Given the description of an element on the screen output the (x, y) to click on. 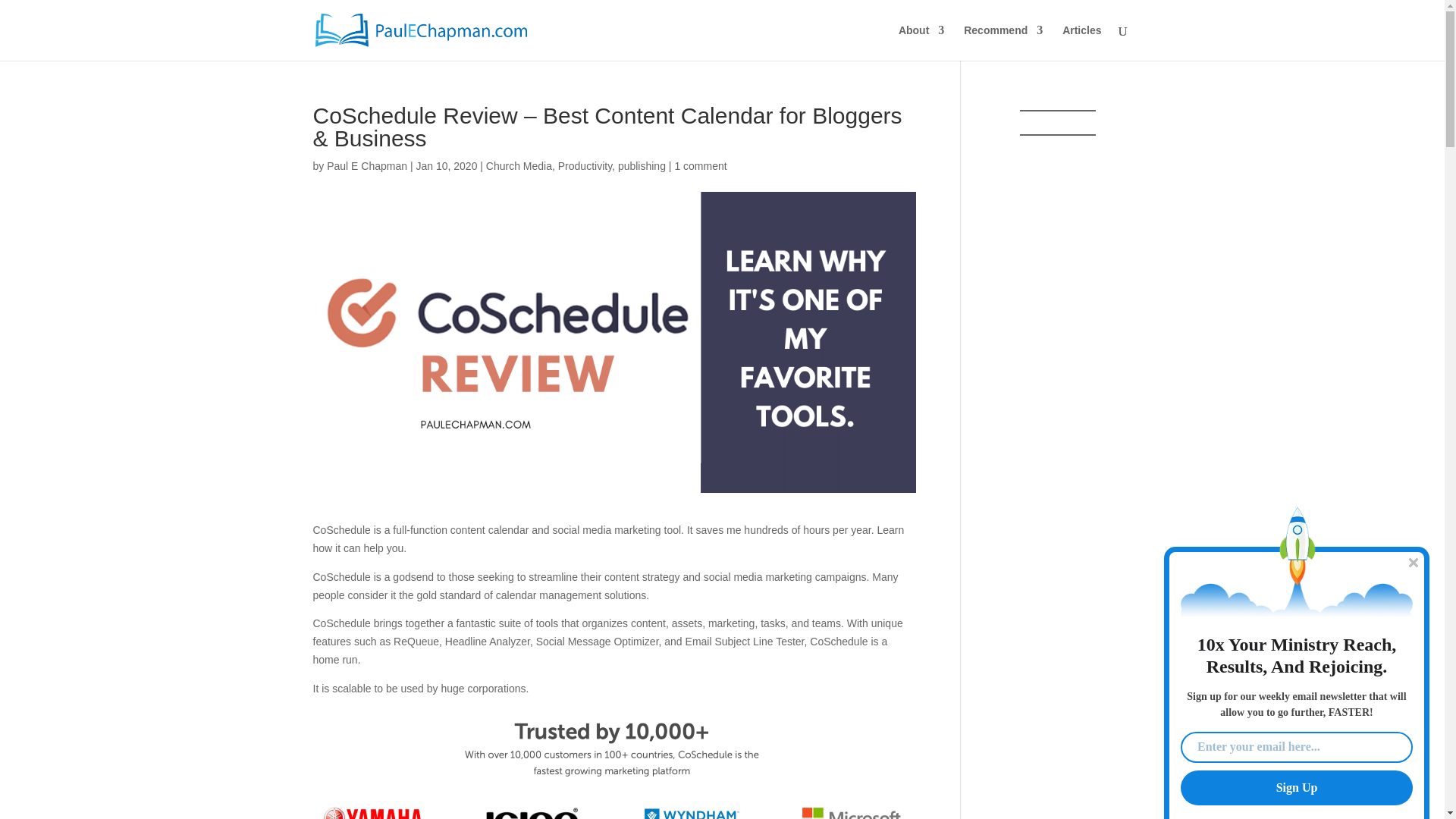
Posts by Paul E Chapman (366, 165)
Productivity (584, 165)
publishing (641, 165)
Articles (1081, 42)
1 comment (700, 165)
Church Media (518, 165)
Recommend (1002, 42)
Paul E Chapman (366, 165)
About (920, 42)
